Given the description of an element on the screen output the (x, y) to click on. 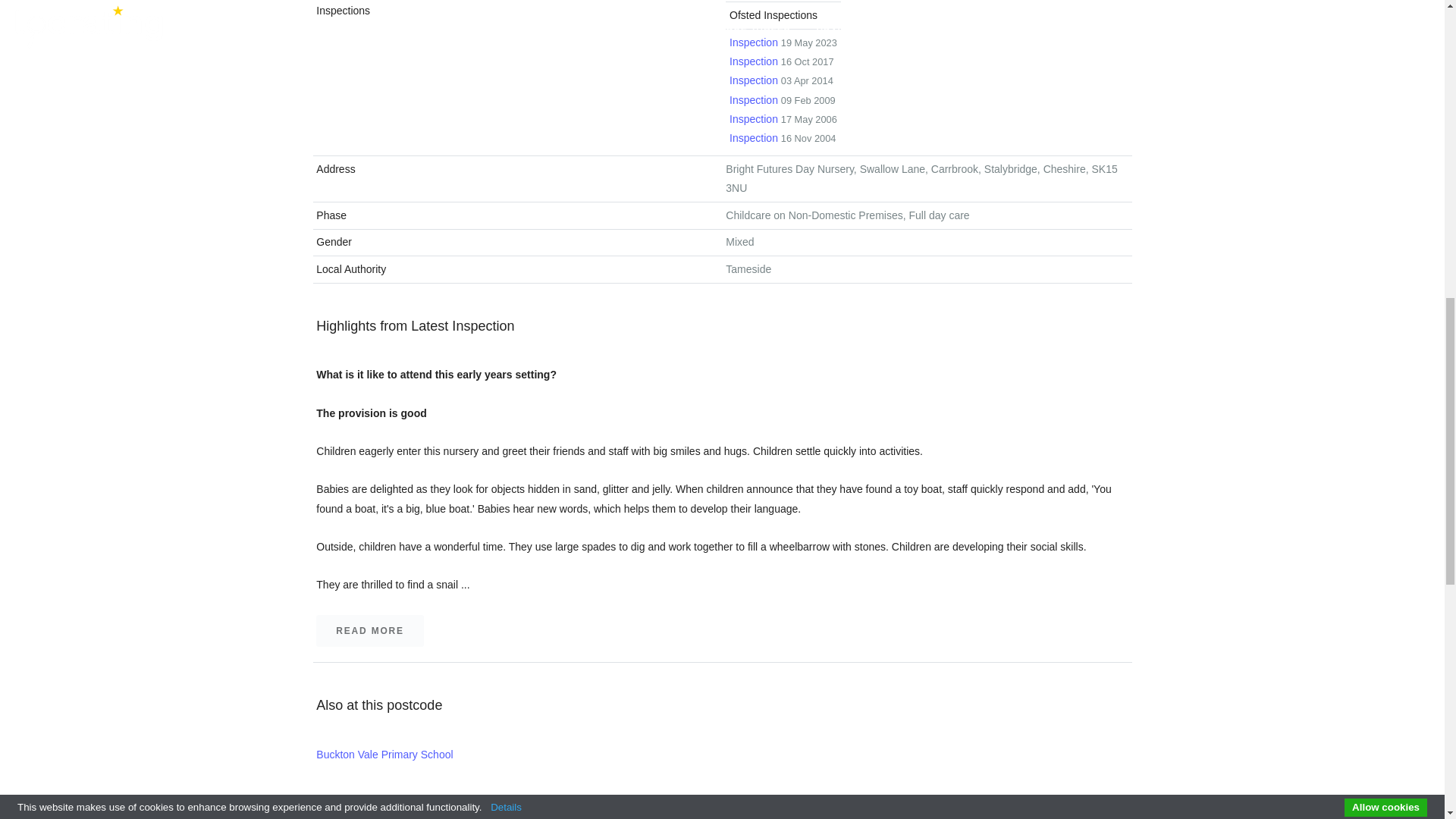
Inspection 16 Nov 2004 (871, 815)
Inspection 19 May 2023 (782, 137)
Inspection 03 Apr 2014 (783, 42)
READ MORE (780, 80)
Inspection 09 Feb 2009 (369, 631)
Inspection 17 May 2006 (782, 100)
Inspection 16 Oct 2017 (783, 119)
Buckton Vale Primary School (780, 61)
